Given the description of an element on the screen output the (x, y) to click on. 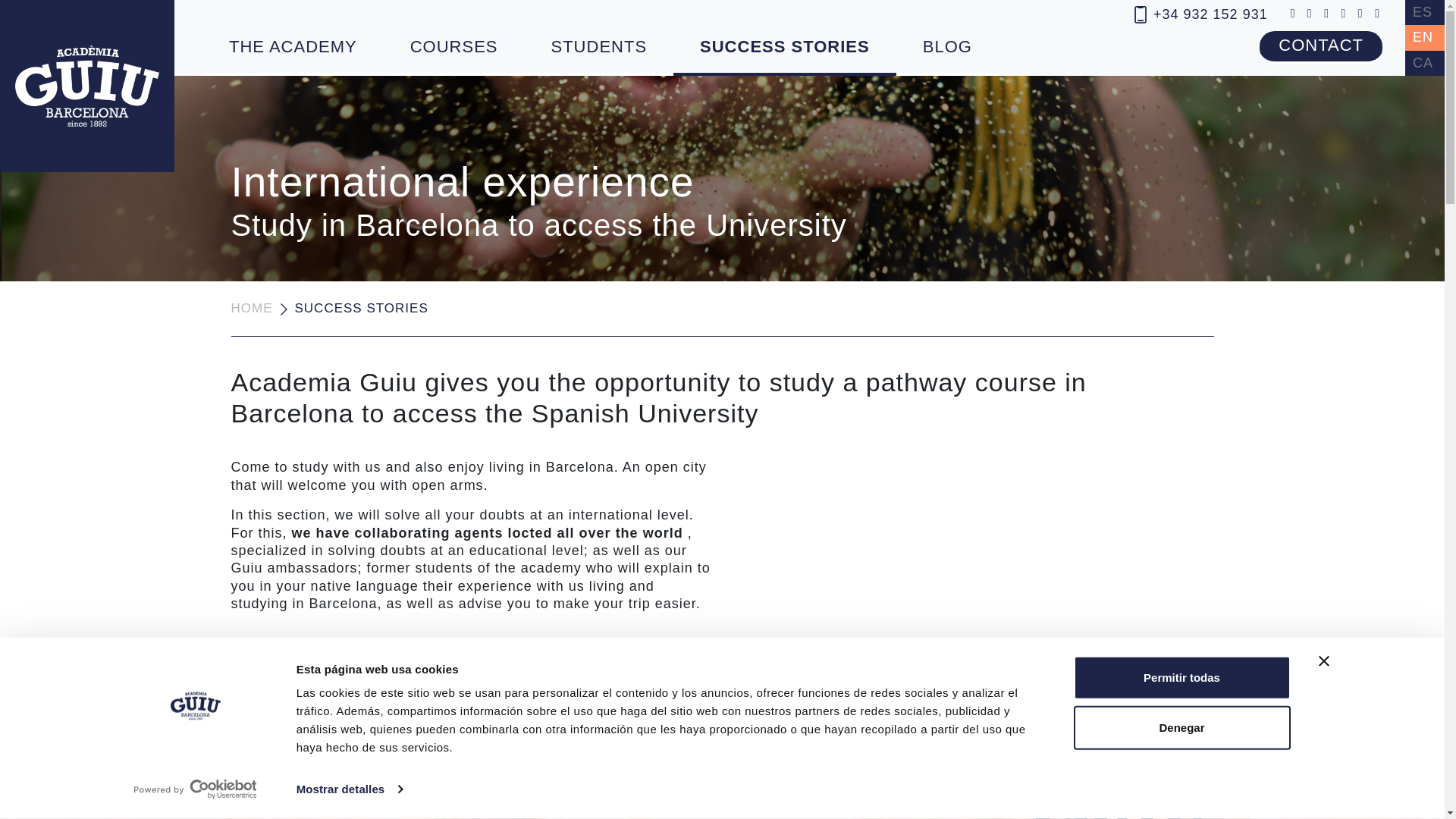
Denegar (1182, 727)
Permitir todas (721, 718)
Mostrar detalles (1182, 678)
